Given the description of an element on the screen output the (x, y) to click on. 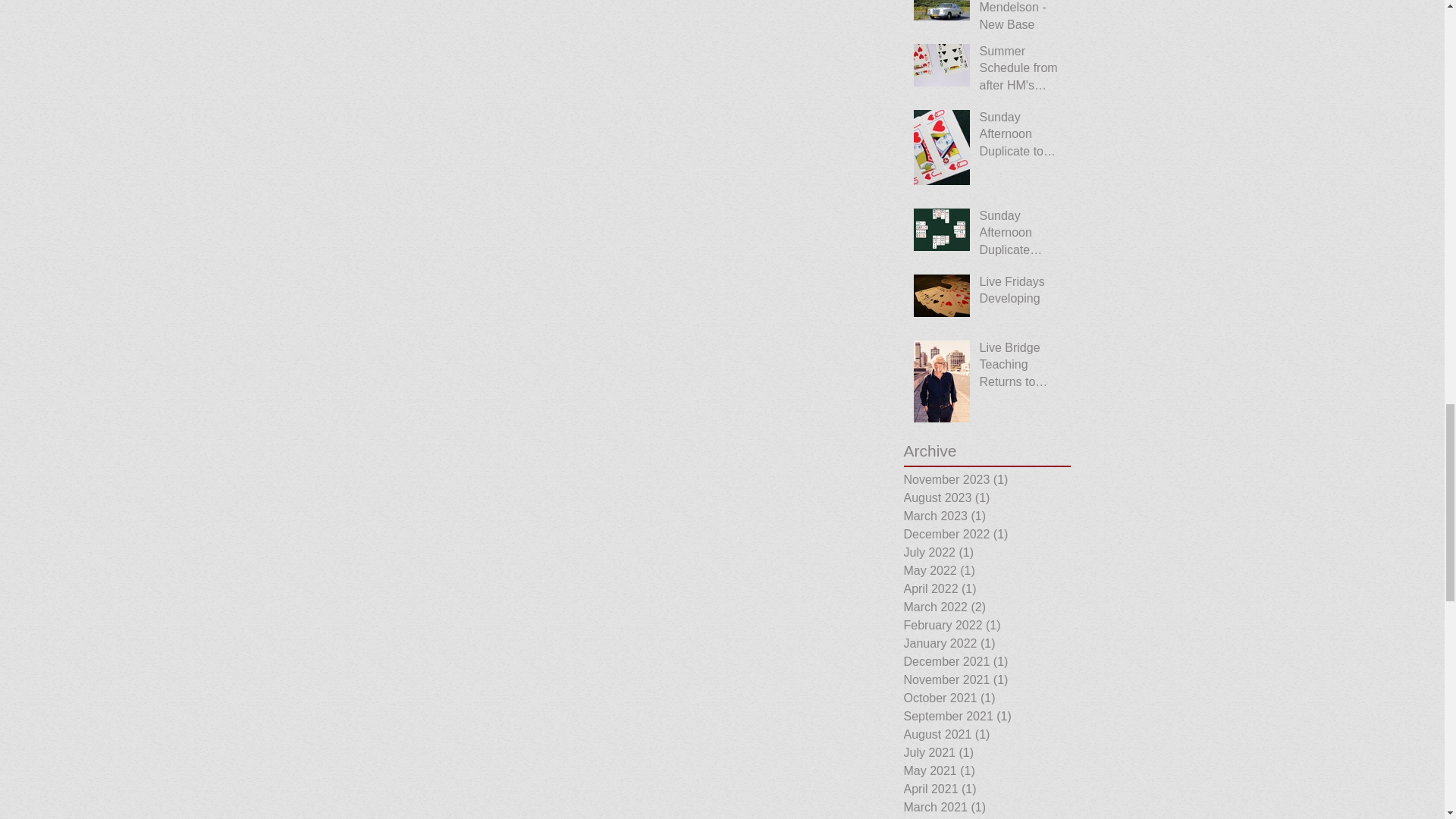
Sunday Afternoon Duplicate Events Planned (1020, 236)
Paul Mendelson - New Base (1020, 19)
Live Bridge Teaching Returns to Roehampton Club (1020, 367)
Live Fridays Developing (1020, 293)
Sunday Afternoon Duplicate to Launch April 24th (1020, 137)
